Given the description of an element on the screen output the (x, y) to click on. 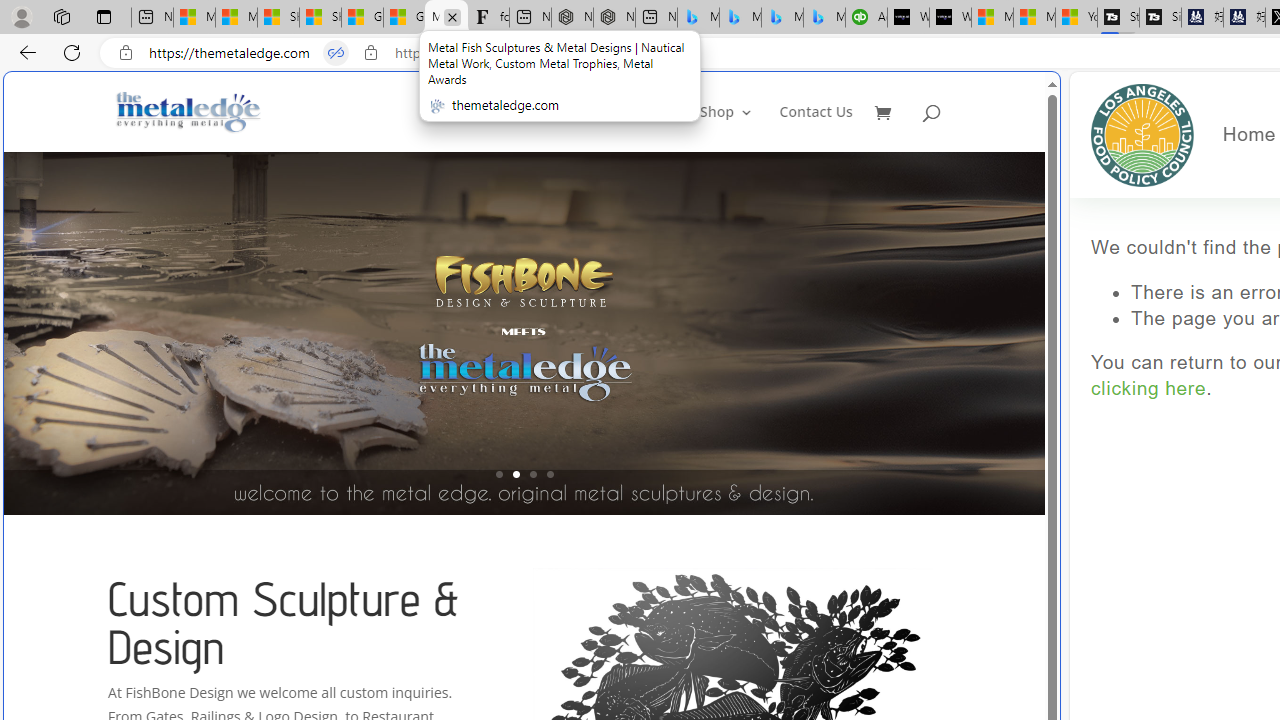
Gilma and Hector both pose tropical trouble for Hawaii (404, 17)
clicking here (1148, 389)
3 (532, 474)
2 (515, 474)
Shop3 (737, 128)
Los Angeles Food Policy Council (1142, 134)
Home (665, 128)
Microsoft Start Sports (991, 17)
5 (1042, 332)
Streaming Coverage | T3 (1118, 17)
Home (1249, 134)
